Given the description of an element on the screen output the (x, y) to click on. 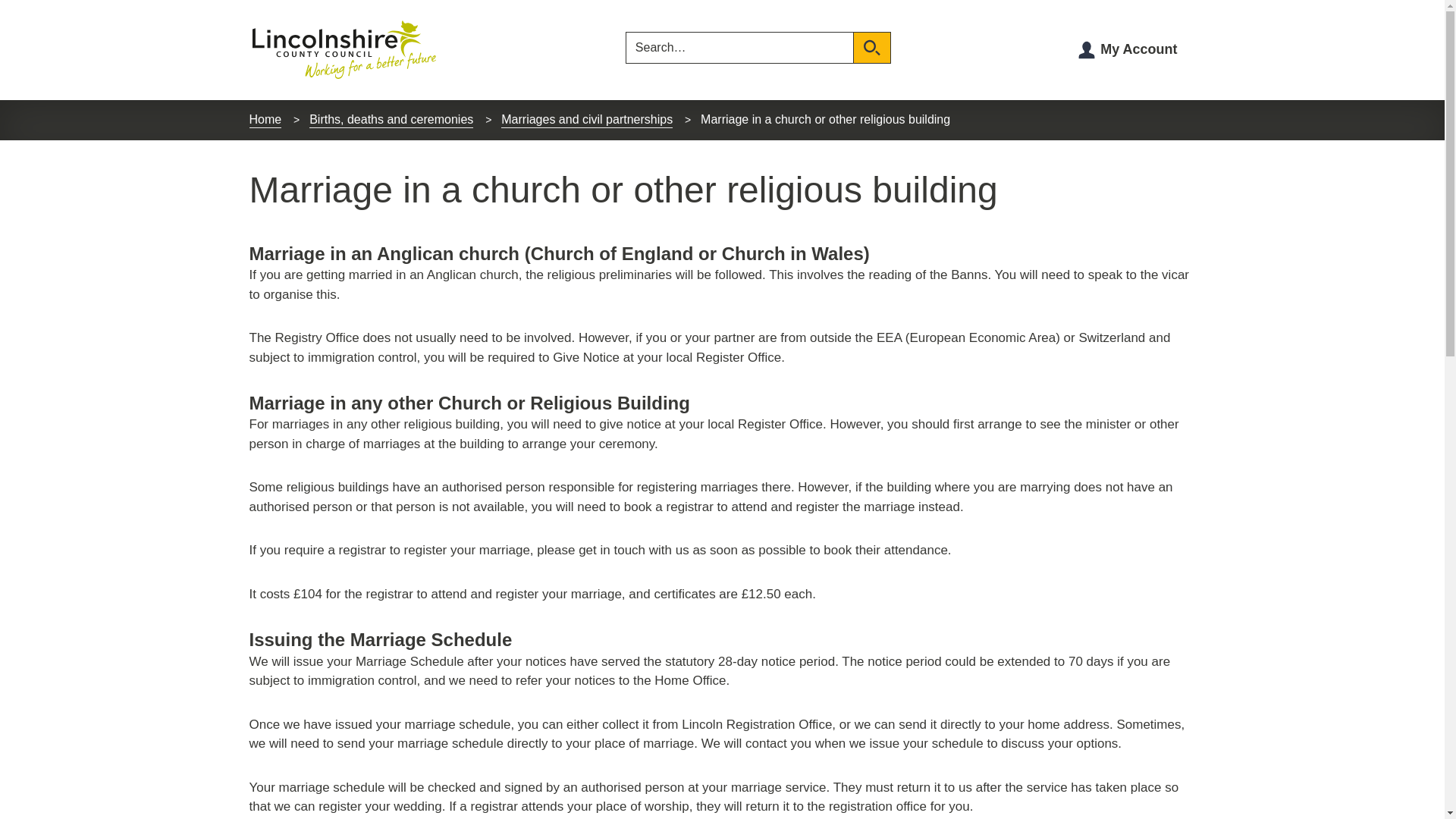
Lincolnshire County Council Home Page (343, 49)
Marriages and civil partnerships (586, 119)
Lincolnshire County Council (343, 49)
Home (264, 119)
Search (872, 47)
My Account (1138, 49)
Births, deaths and ceremonies (390, 119)
